Given the description of an element on the screen output the (x, y) to click on. 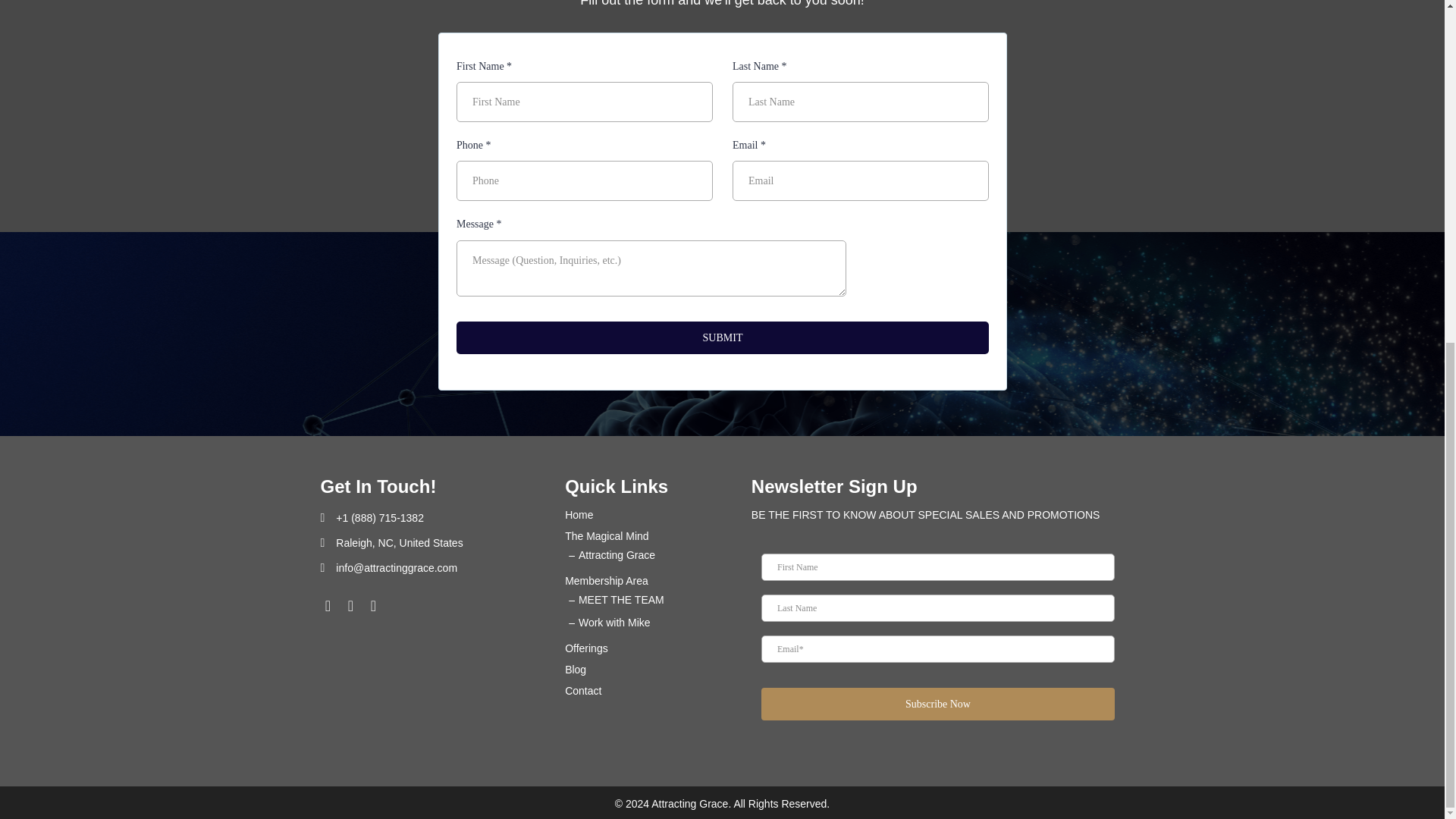
Membership Area (605, 580)
Offerings (586, 648)
Newsletter Sign UpForm 9 (937, 642)
MEET THE TEAM (620, 599)
Blog (575, 669)
Contact (582, 690)
Home (578, 514)
Attracting Grace (616, 554)
Raleigh, NC, United States (399, 542)
Work with Mike (614, 622)
The Magical Mind (606, 535)
